Given the description of an element on the screen output the (x, y) to click on. 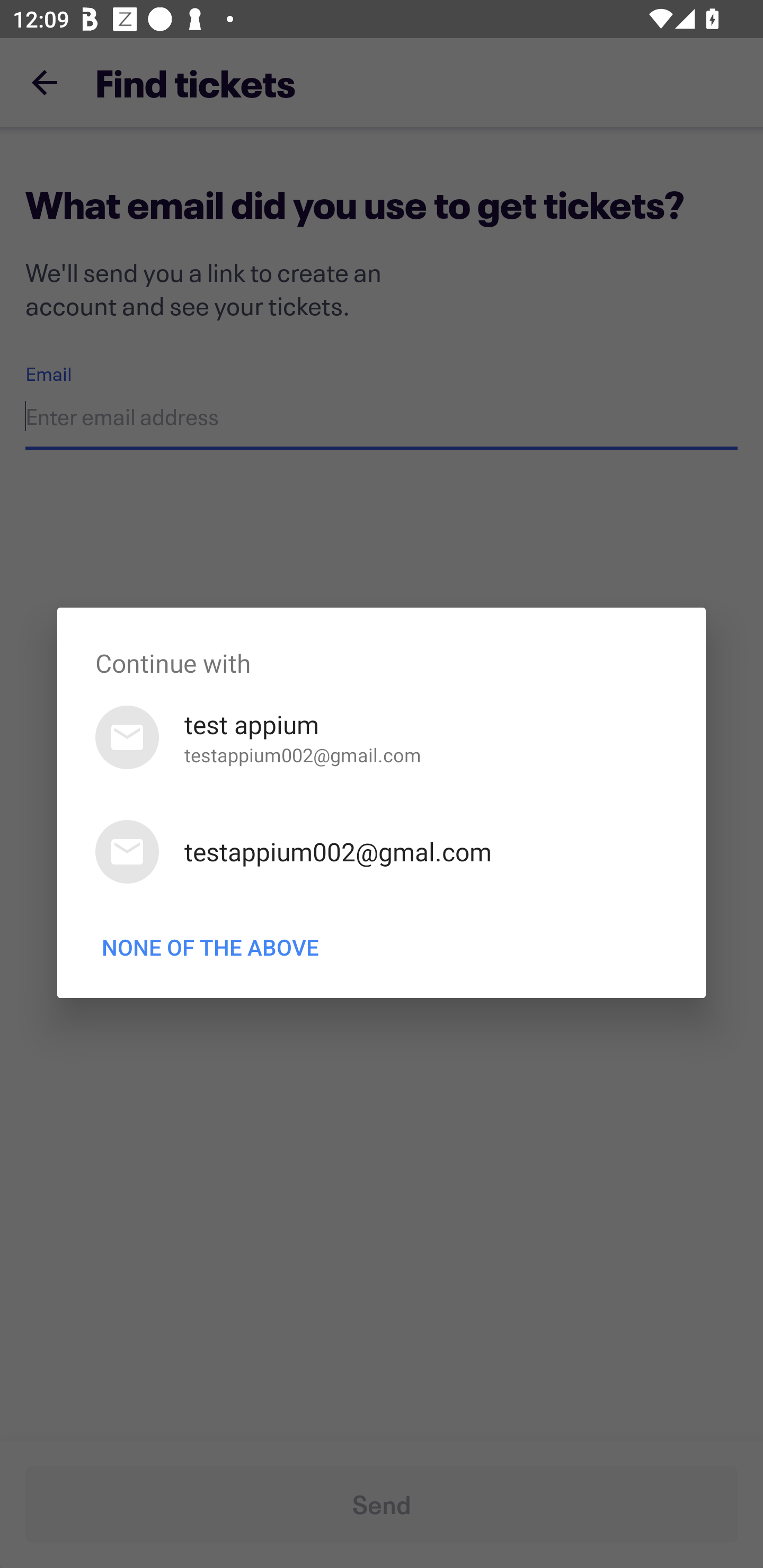
test appium test appium testappium002@gmail.com (381, 737)
testappium002@gmal.com (381, 851)
NONE OF THE ABOVE (210, 946)
